Given the description of an element on the screen output the (x, y) to click on. 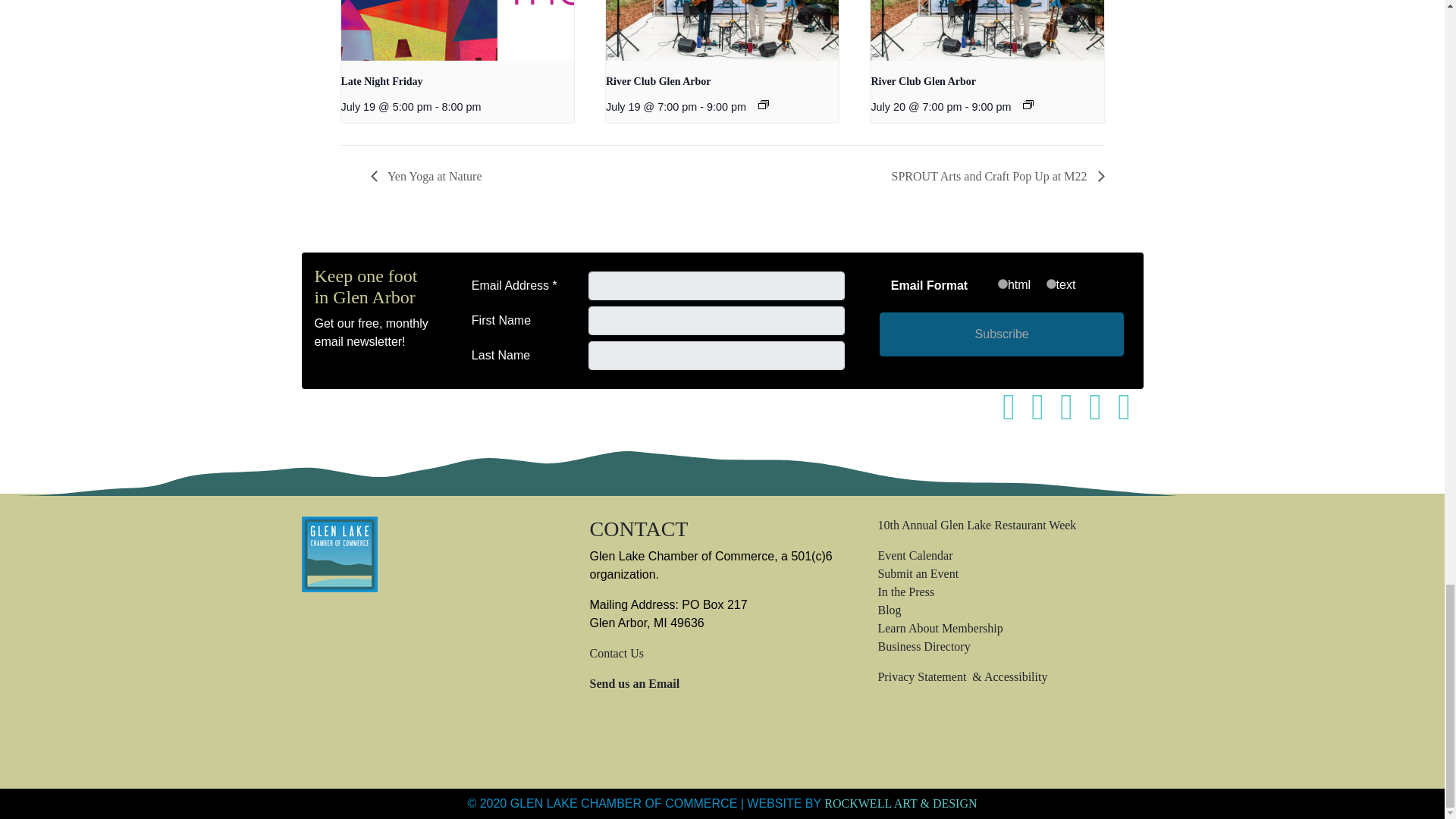
text (1051, 284)
html (1002, 284)
Subscribe (1001, 334)
